Given the description of an element on the screen output the (x, y) to click on. 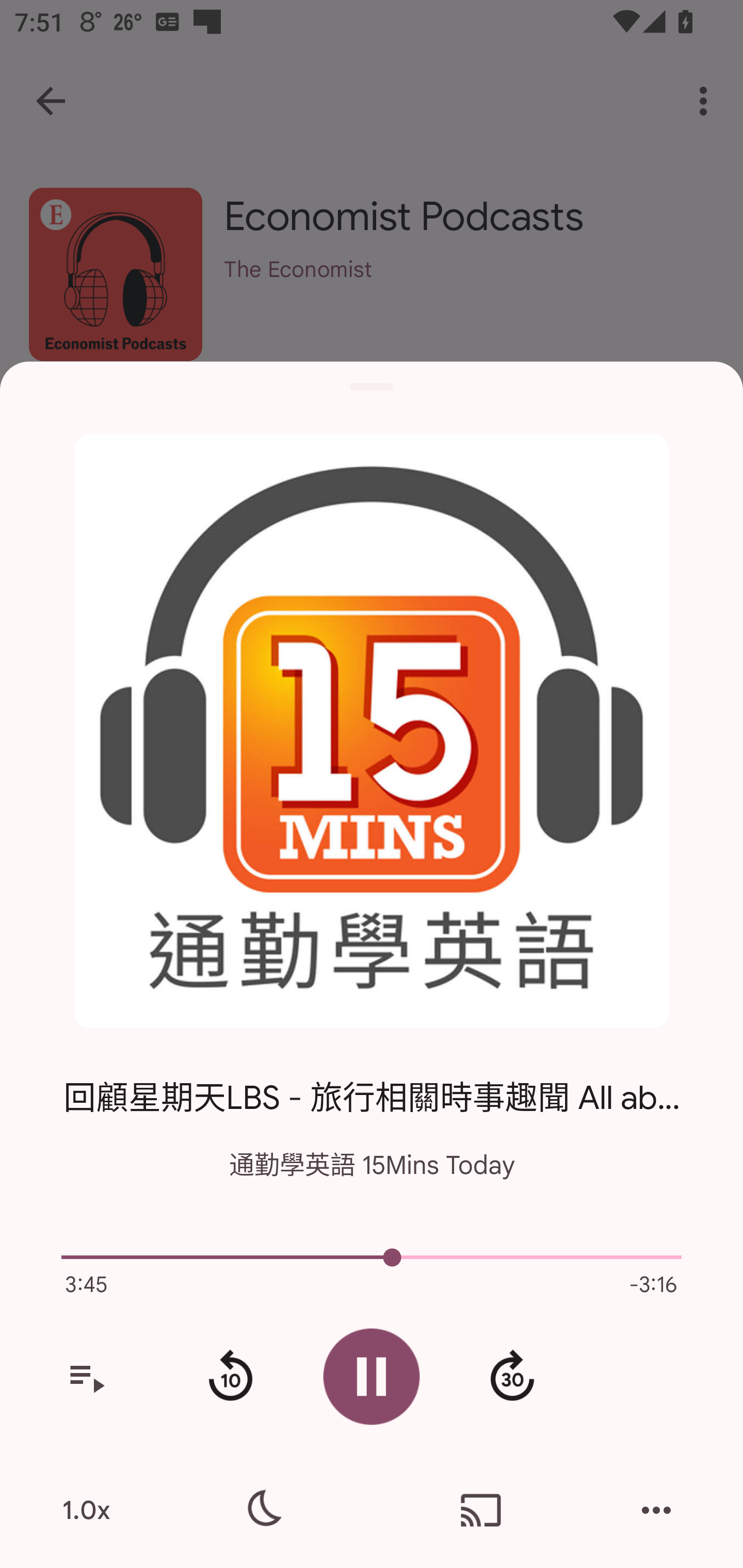
Open the show page for 通勤學英語 15Mins Today (371, 731)
5315.0 Current episode playback (371, 1257)
Pause (371, 1376)
View your queue (86, 1376)
Rewind 10 seconds (230, 1376)
Fast forward 30 second (511, 1376)
1.0x Playback speed is 1.0. (86, 1510)
Sleep timer settings (261, 1510)
Cast. Disconnected (480, 1510)
More actions (655, 1510)
